Given the description of an element on the screen output the (x, y) to click on. 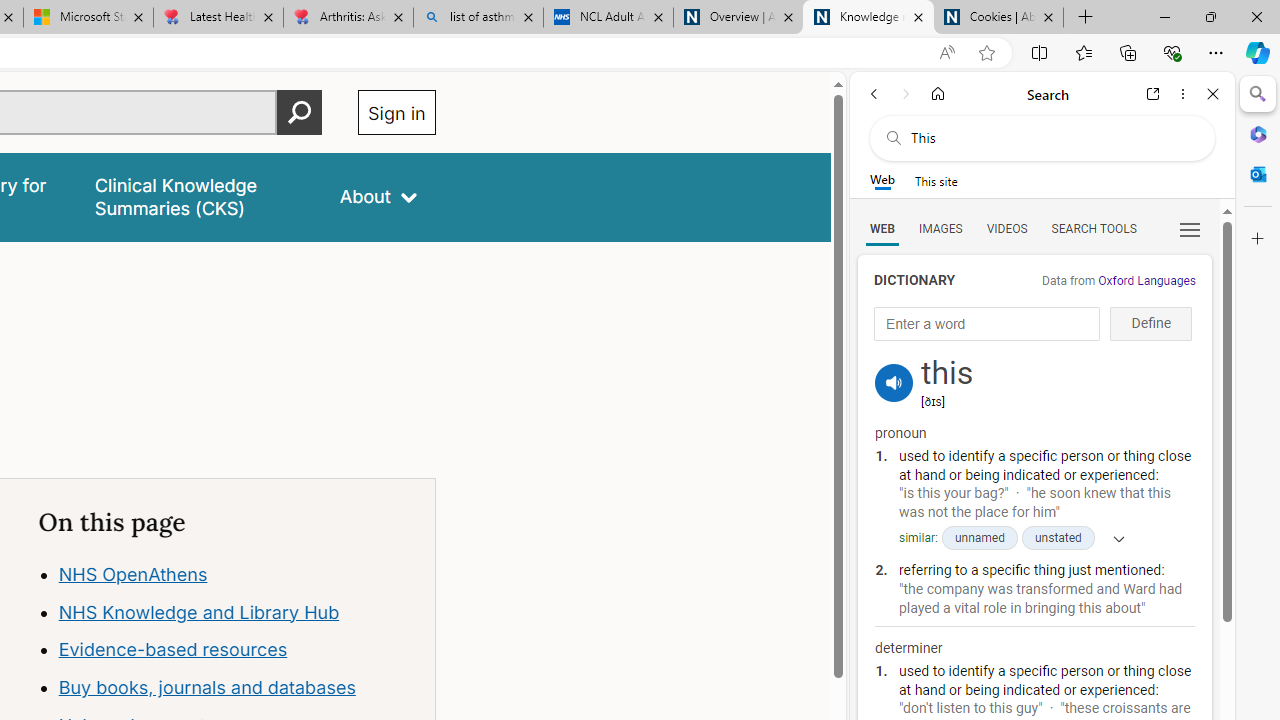
Oxford Languages (1146, 281)
NHS Knowledge and Library Hub (237, 612)
pronounce (893, 382)
NHS Knowledge and Library Hub (198, 611)
Show more (1112, 538)
